Given the description of an element on the screen output the (x, y) to click on. 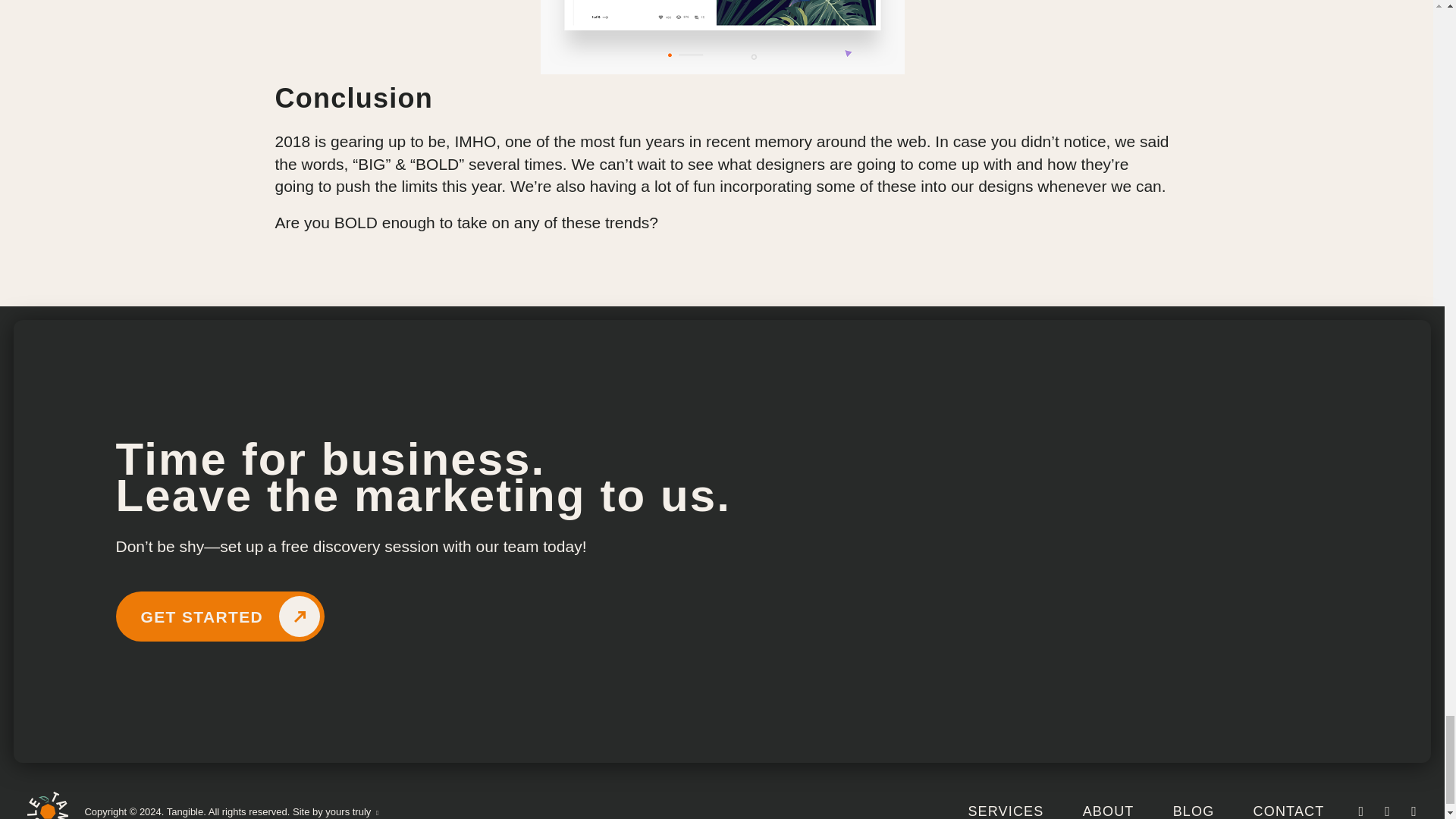
ABOUT (1108, 811)
SERVICES (1005, 811)
CONTACT (1288, 811)
BLOG (1193, 811)
GET STARTED (219, 616)
